Given the description of an element on the screen output the (x, y) to click on. 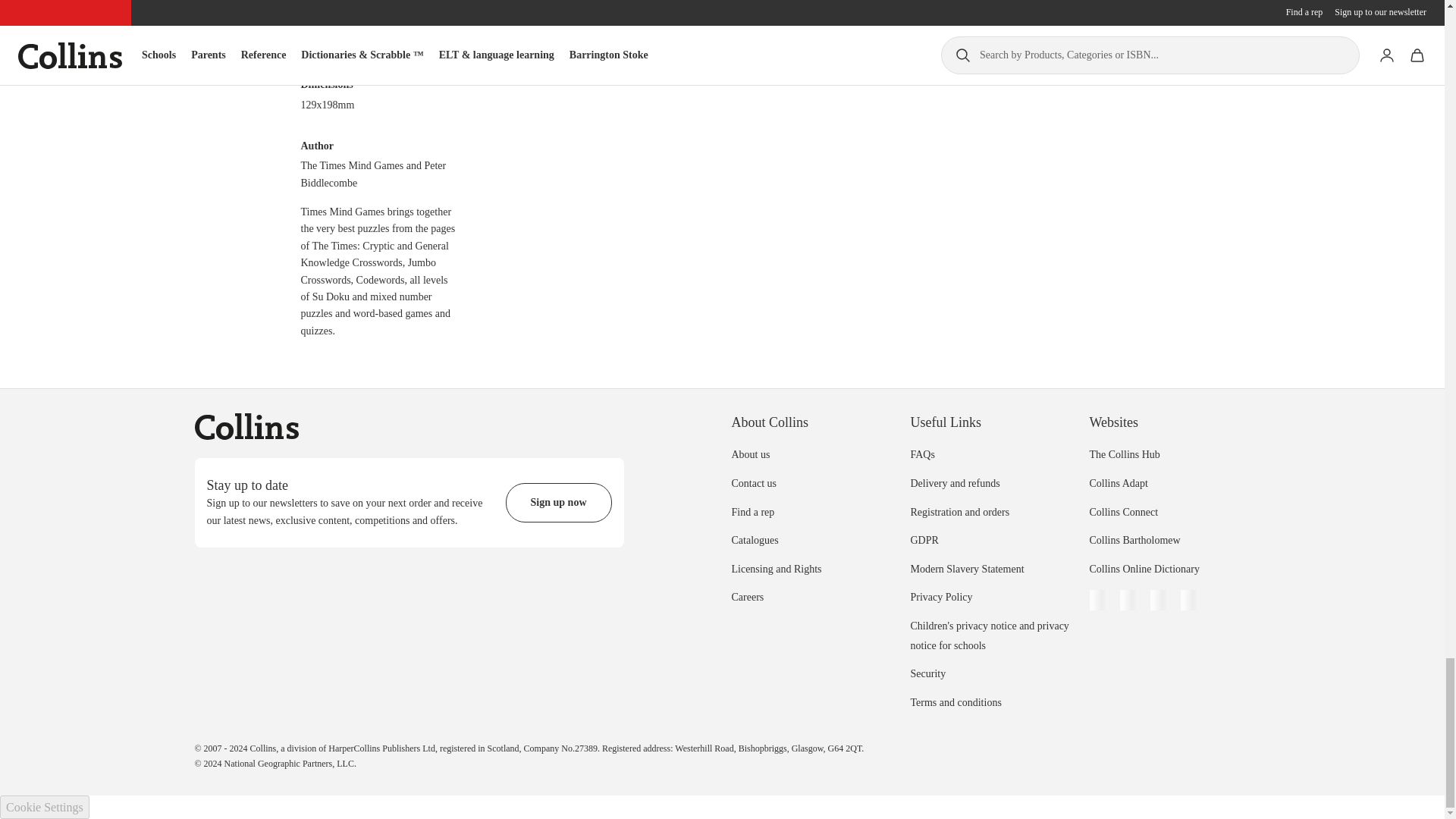
Privacy Policy (941, 596)
Delivery and refunds (954, 482)
Registration and orders (959, 511)
GDPR (923, 540)
About us (750, 454)
Contact us (753, 482)
Security (927, 673)
Find a rep (752, 511)
Sign up now (558, 502)
Licensing and Rights (775, 568)
